Given the description of an element on the screen output the (x, y) to click on. 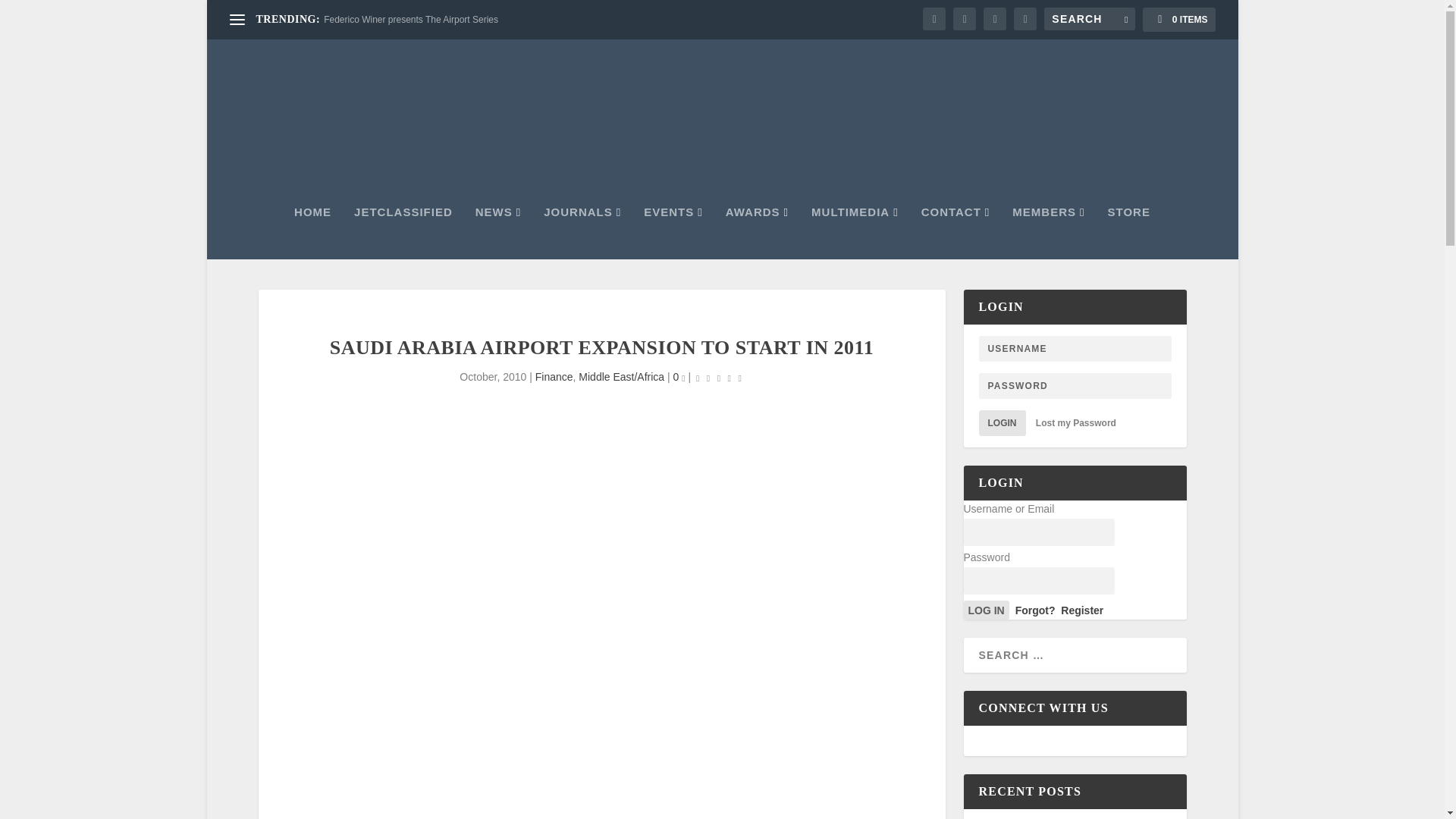
JOURNALS (582, 232)
log in (985, 609)
JETCLASSIFIED (402, 232)
Rating: 0.00 (719, 377)
Federico Winer presents The Airport Series (410, 19)
